Given the description of an element on the screen output the (x, y) to click on. 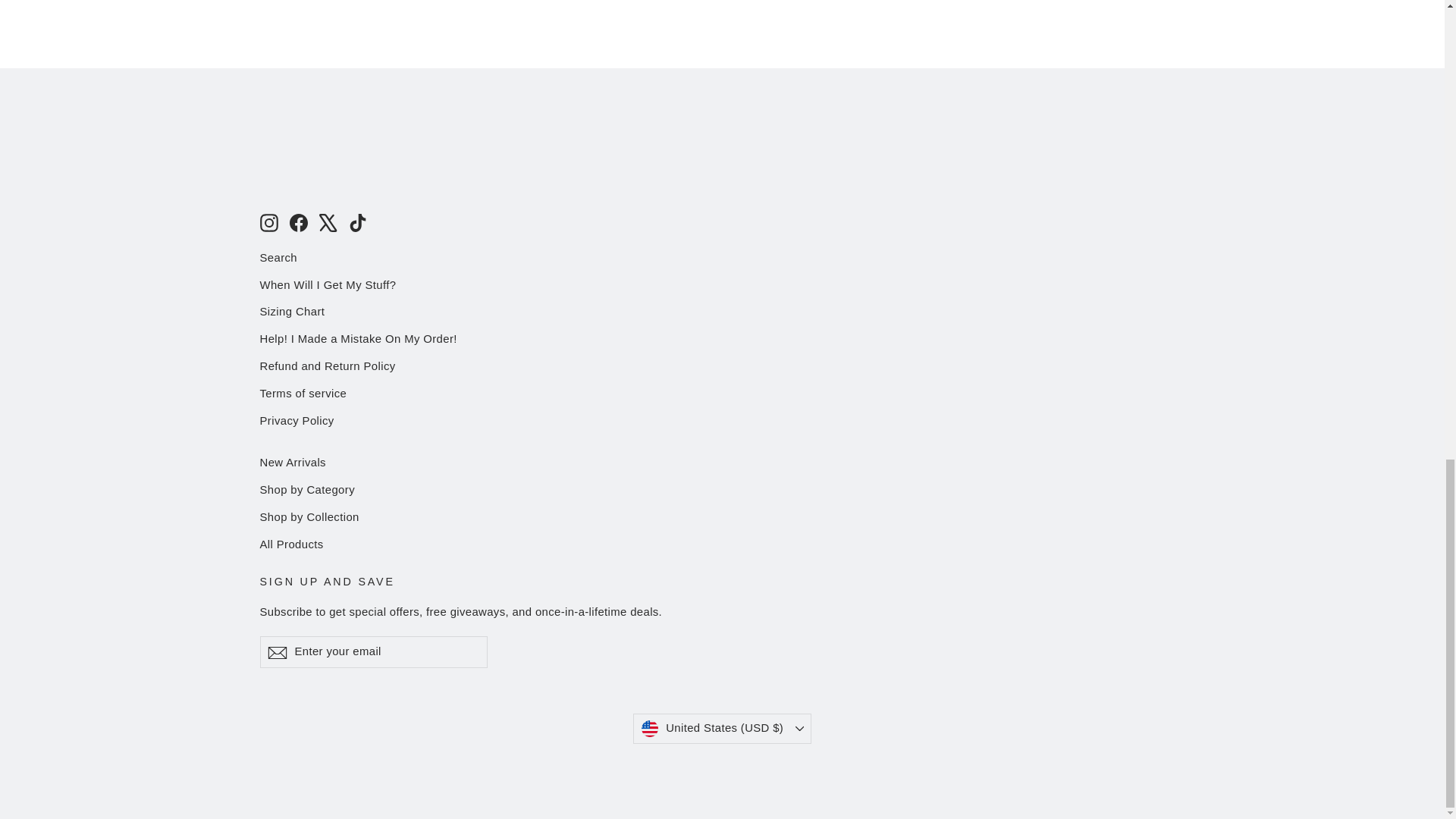
Nerd Riot on TikTok (357, 221)
Nerd Riot on Instagram (268, 221)
Nerd Riot on X (327, 221)
instagram (268, 222)
Nerd Riot on Facebook (298, 221)
icon-email (276, 652)
